Given the description of an element on the screen output the (x, y) to click on. 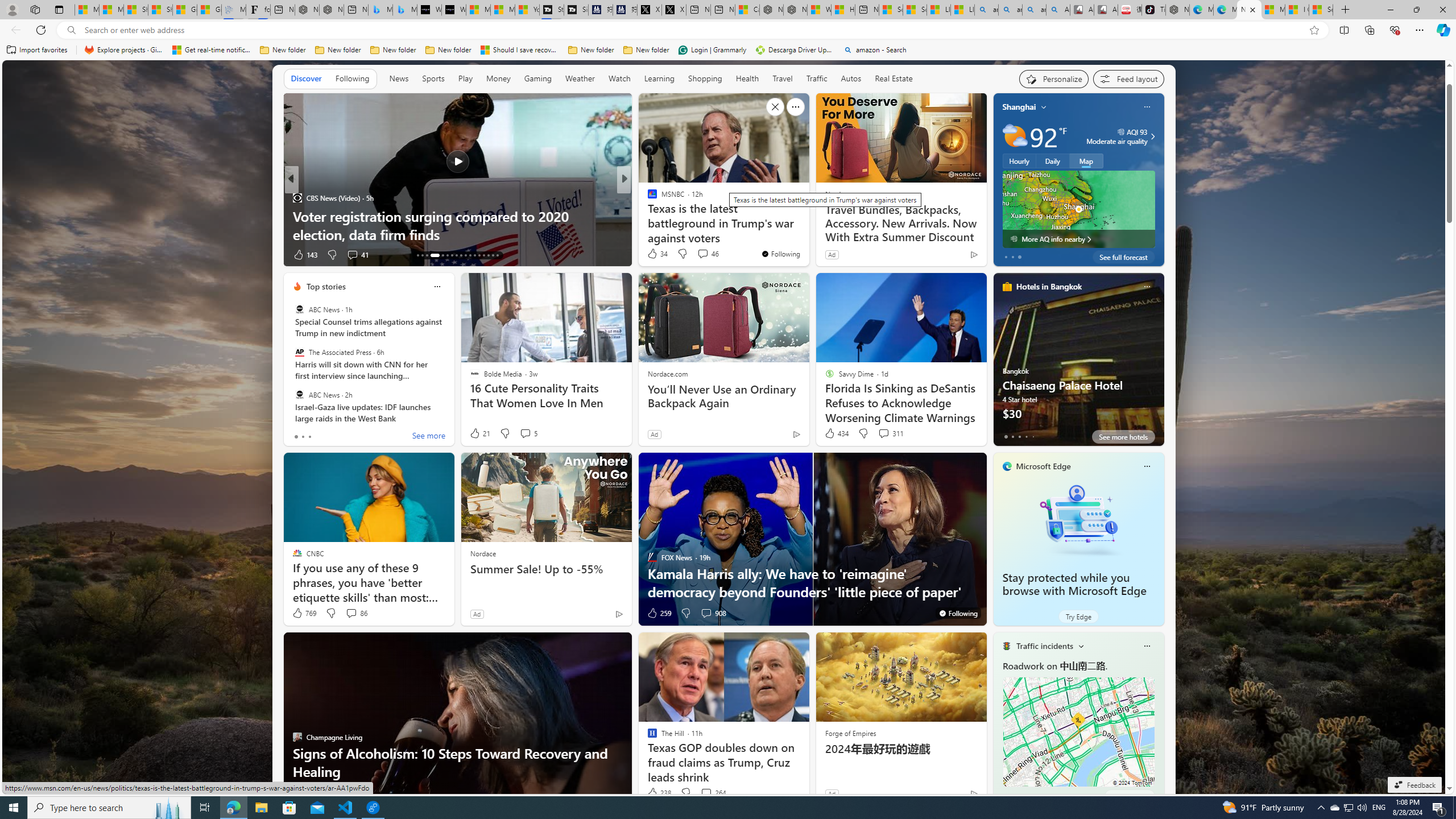
AutomationID: tab-25 (478, 255)
AutomationID: tab-41 (492, 255)
Play (465, 78)
AutomationID: tab-17 (439, 255)
View comments 6 Comment (705, 254)
View comments 26 Comment (698, 254)
Feed settings (1128, 78)
Travel (782, 79)
Weather (579, 78)
See more hotels (1123, 436)
Should I save recovered Word documents? - Microsoft Support (519, 49)
tab-1 (1012, 795)
